Given the description of an element on the screen output the (x, y) to click on. 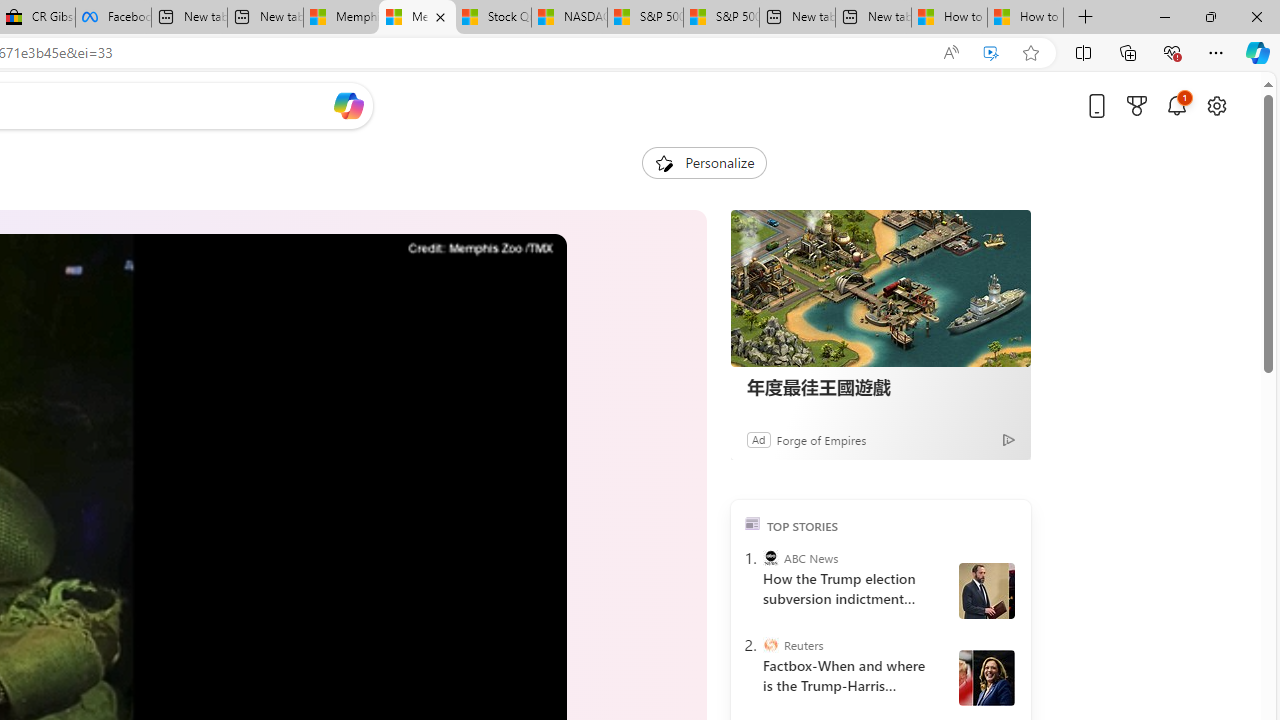
S&P 500, Nasdaq end lower, weighed by Nvidia dip | Watch (721, 17)
Notifications (1176, 105)
Personalize (703, 162)
Forge of Empires (820, 439)
Open settings (1216, 105)
ABC News (770, 557)
